Given the description of an element on the screen output the (x, y) to click on. 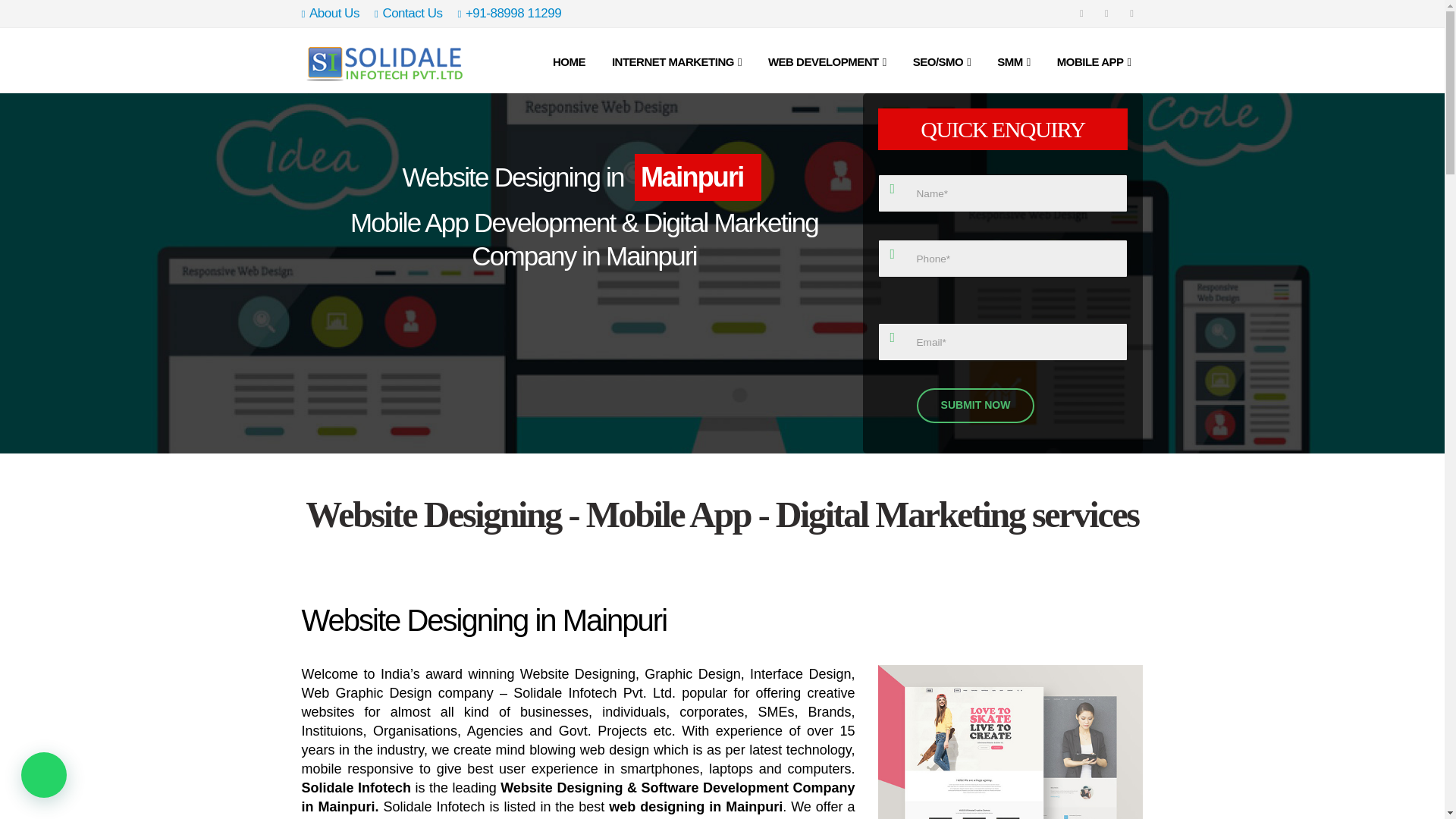
About Us (333, 13)
Twitter (1106, 13)
Facebook (1081, 13)
Contact Us (407, 13)
INTERNET MARKETING (676, 59)
HOME (567, 59)
Instagram (1131, 13)
Submit Now (976, 405)
